Given the description of an element on the screen output the (x, y) to click on. 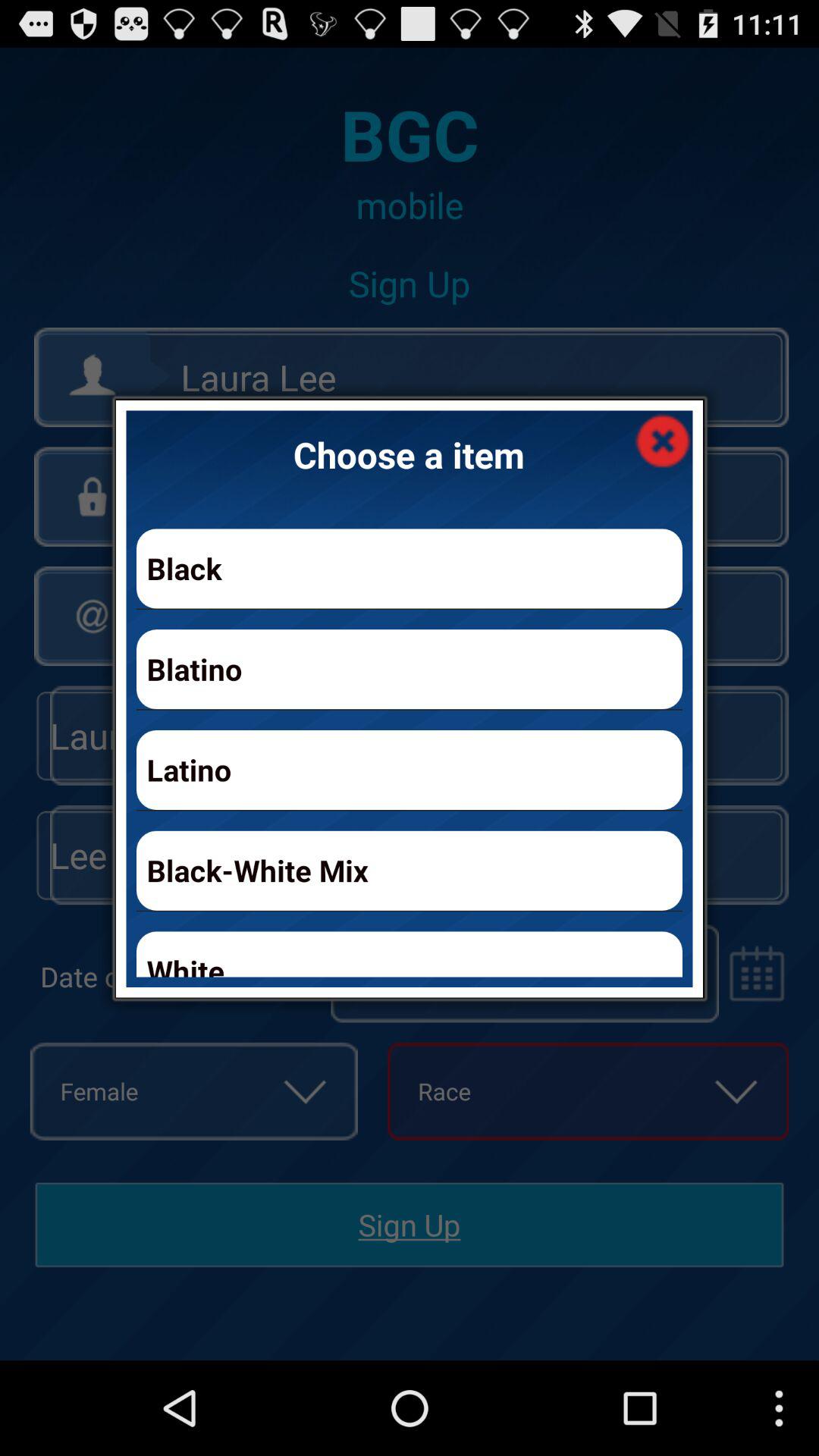
open app below the black item (409, 669)
